Given the description of an element on the screen output the (x, y) to click on. 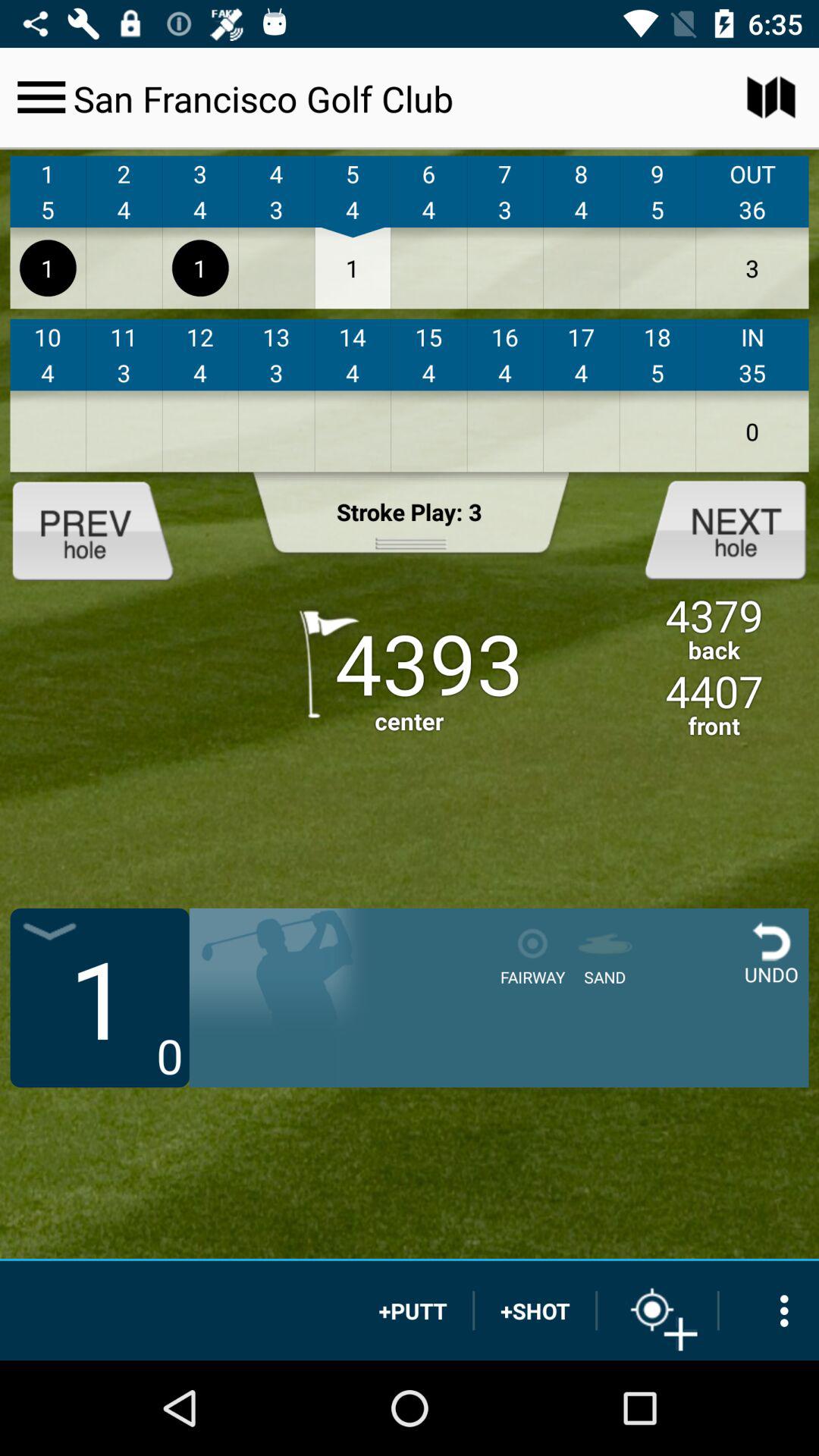
go to previous (105, 528)
